Given the description of an element on the screen output the (x, y) to click on. 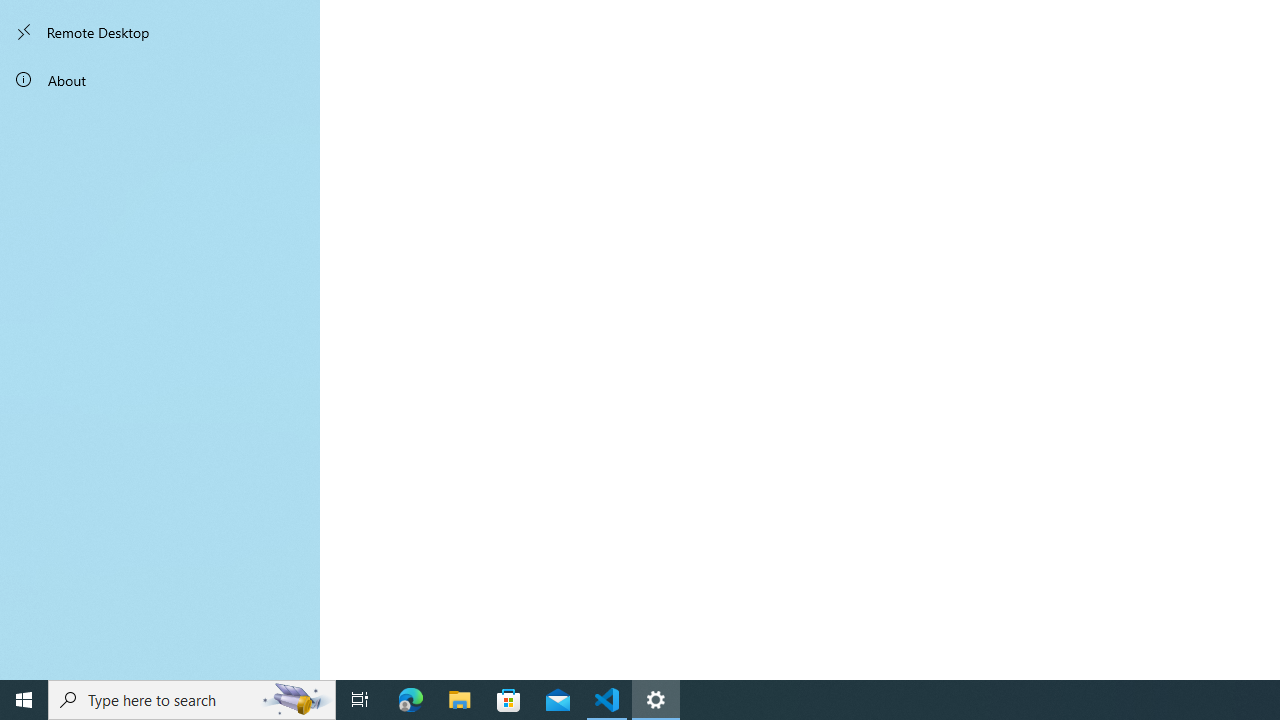
File Explorer (460, 699)
Remote Desktop (160, 31)
Task View (359, 699)
Start (24, 699)
Microsoft Edge (411, 699)
Search highlights icon opens search home window (295, 699)
Microsoft Store (509, 699)
Visual Studio Code - 1 running window (607, 699)
Type here to search (191, 699)
About (160, 79)
Settings - 1 running window (656, 699)
